Given the description of an element on the screen output the (x, y) to click on. 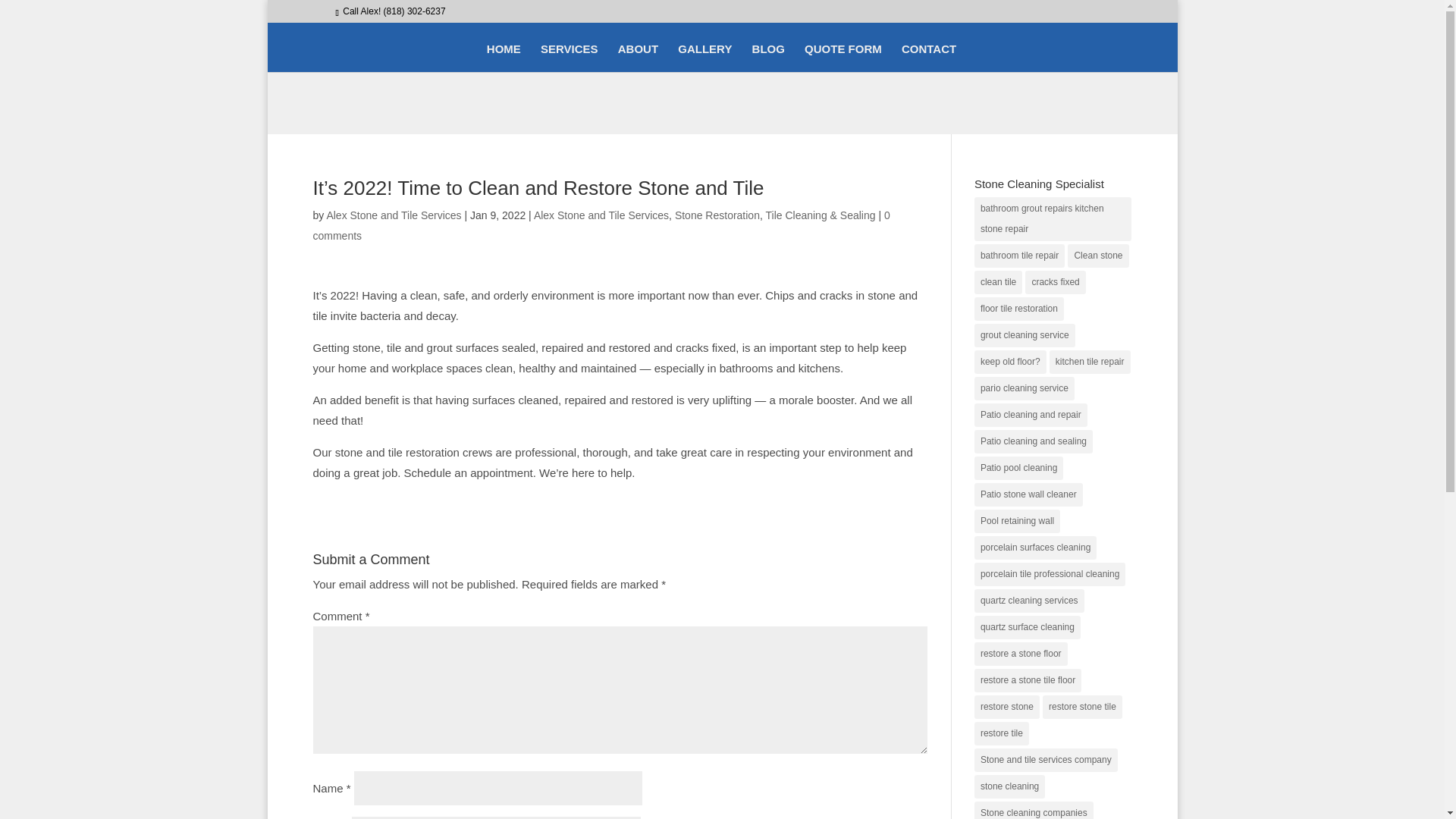
keep old floor? (1010, 361)
restore stone (1006, 707)
bathroom grout repairs kitchen stone repair (1053, 218)
kitchen tile repair (1090, 361)
quartz cleaning services (1029, 600)
BLOG (768, 58)
restore a stone tile floor (1027, 680)
Patio cleaning and repair (1030, 414)
cracks fixed (1054, 282)
restore stone tile (1082, 707)
Pool retaining wall (1016, 521)
ABOUT (637, 58)
grout cleaning service (1024, 335)
SERVICES (569, 58)
restore tile (1001, 733)
